Given the description of an element on the screen output the (x, y) to click on. 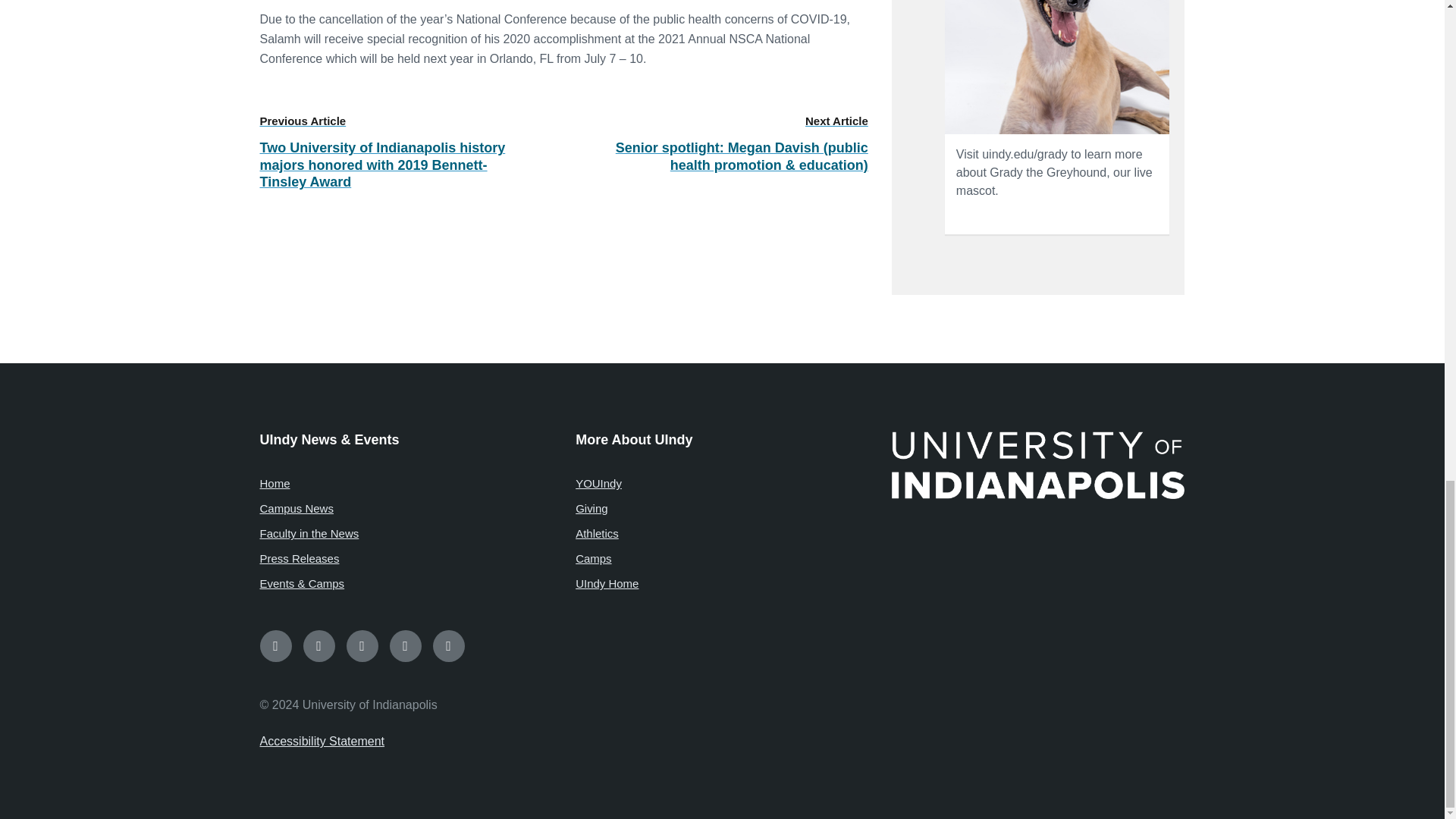
Social Media Links (722, 645)
Twitter (361, 645)
YouTube (406, 645)
LinkedIn (448, 645)
Meet Grady! (1057, 67)
Facebook (275, 645)
Instagram (318, 645)
